Given the description of an element on the screen output the (x, y) to click on. 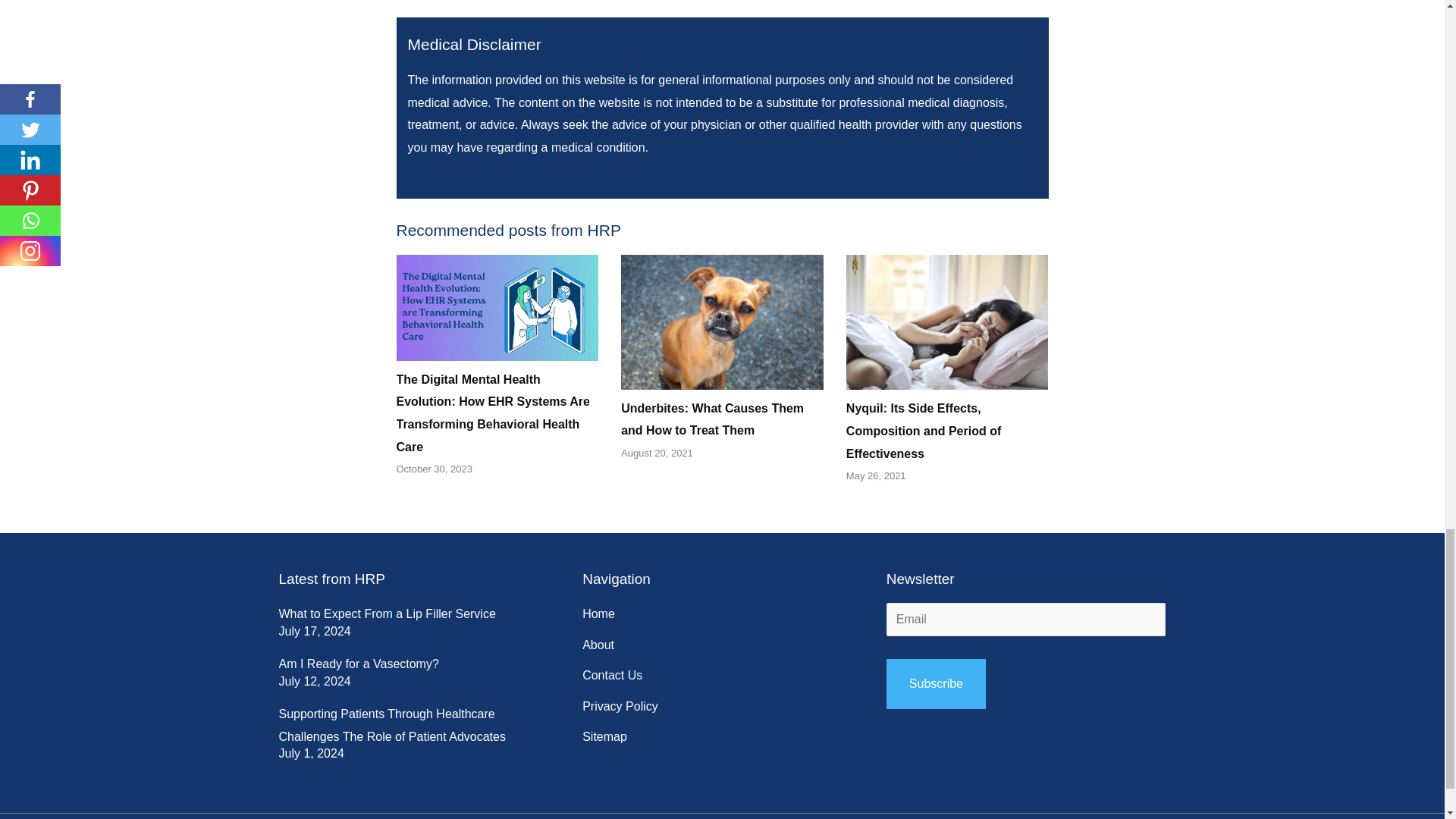
Subscribe (935, 684)
Subscribe (935, 684)
About (598, 644)
Underbites: What Causes Them and How to Treat Them (712, 419)
What to Expect From a Lip Filler Service (387, 613)
Contact Us (612, 675)
Sitemap (604, 736)
Privacy Policy (620, 706)
Am I Ready for a Vasectomy? (359, 663)
Home (598, 613)
